Given the description of an element on the screen output the (x, y) to click on. 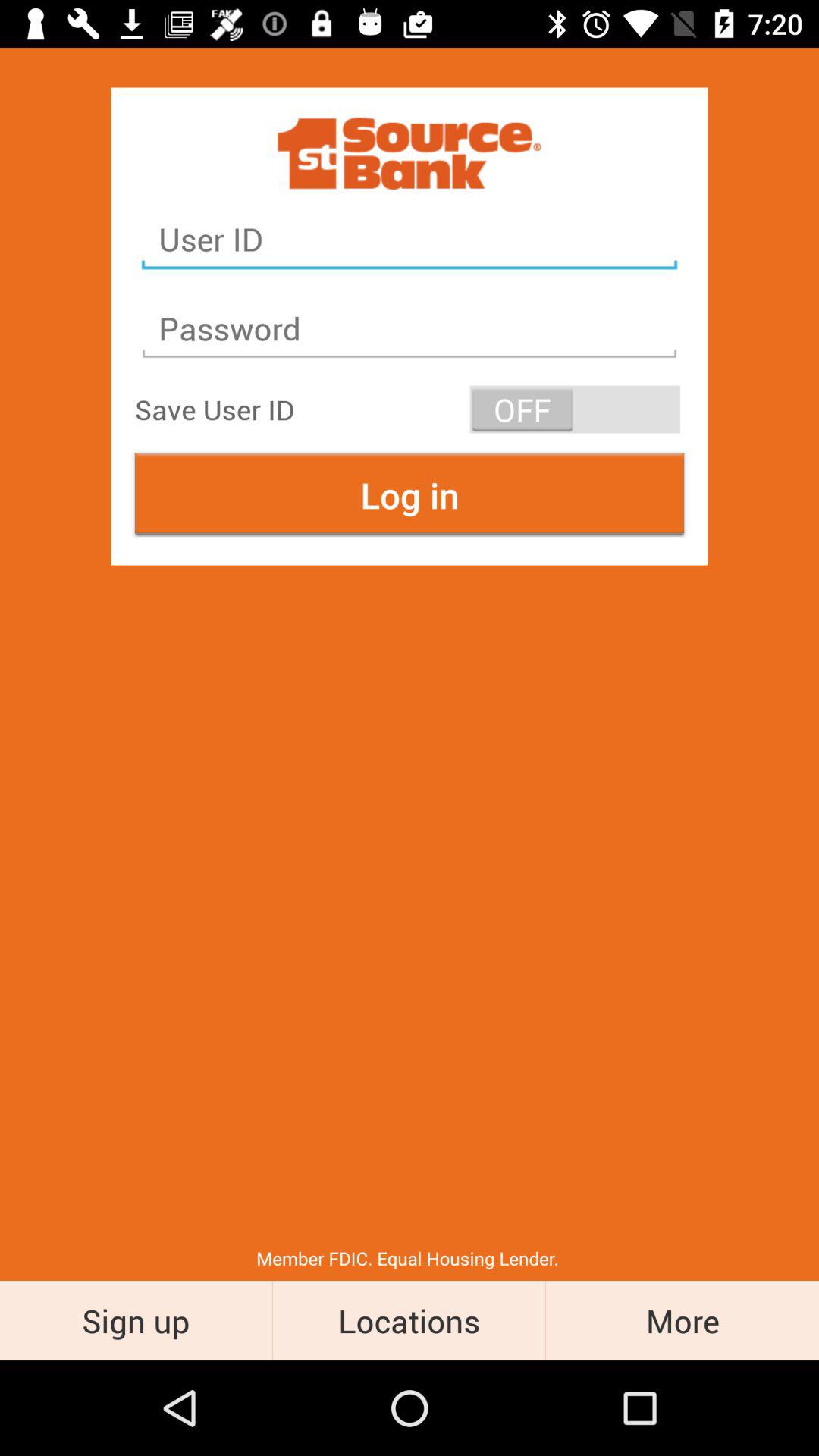
press the item above member fdic equal (409, 494)
